Given the description of an element on the screen output the (x, y) to click on. 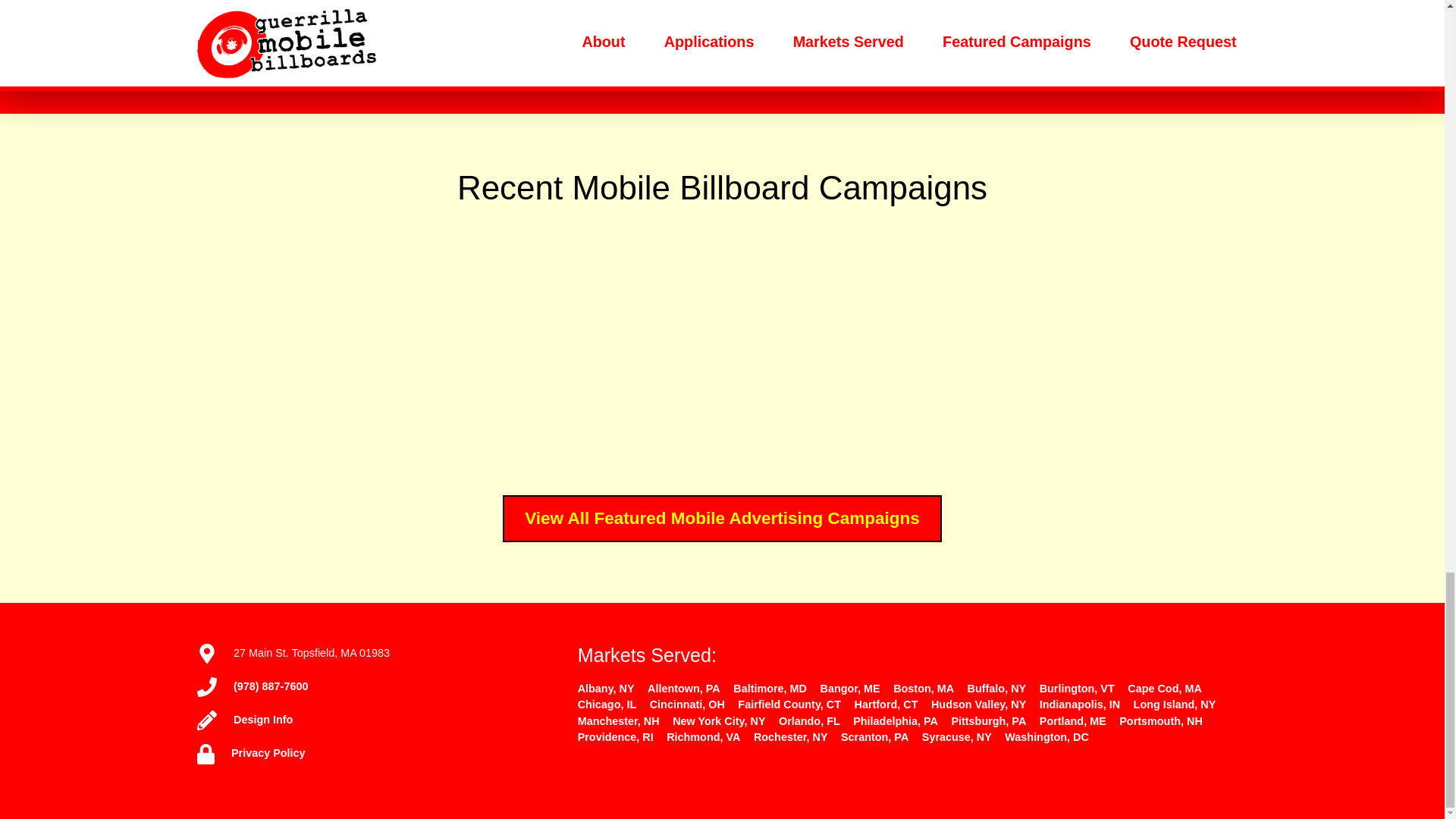
Allentown, PA (683, 688)
Design Info (262, 719)
Privacy Policy (268, 752)
View All Featured Mobile Advertising Campaigns (722, 518)
Albany, NY (606, 688)
